Given the description of an element on the screen output the (x, y) to click on. 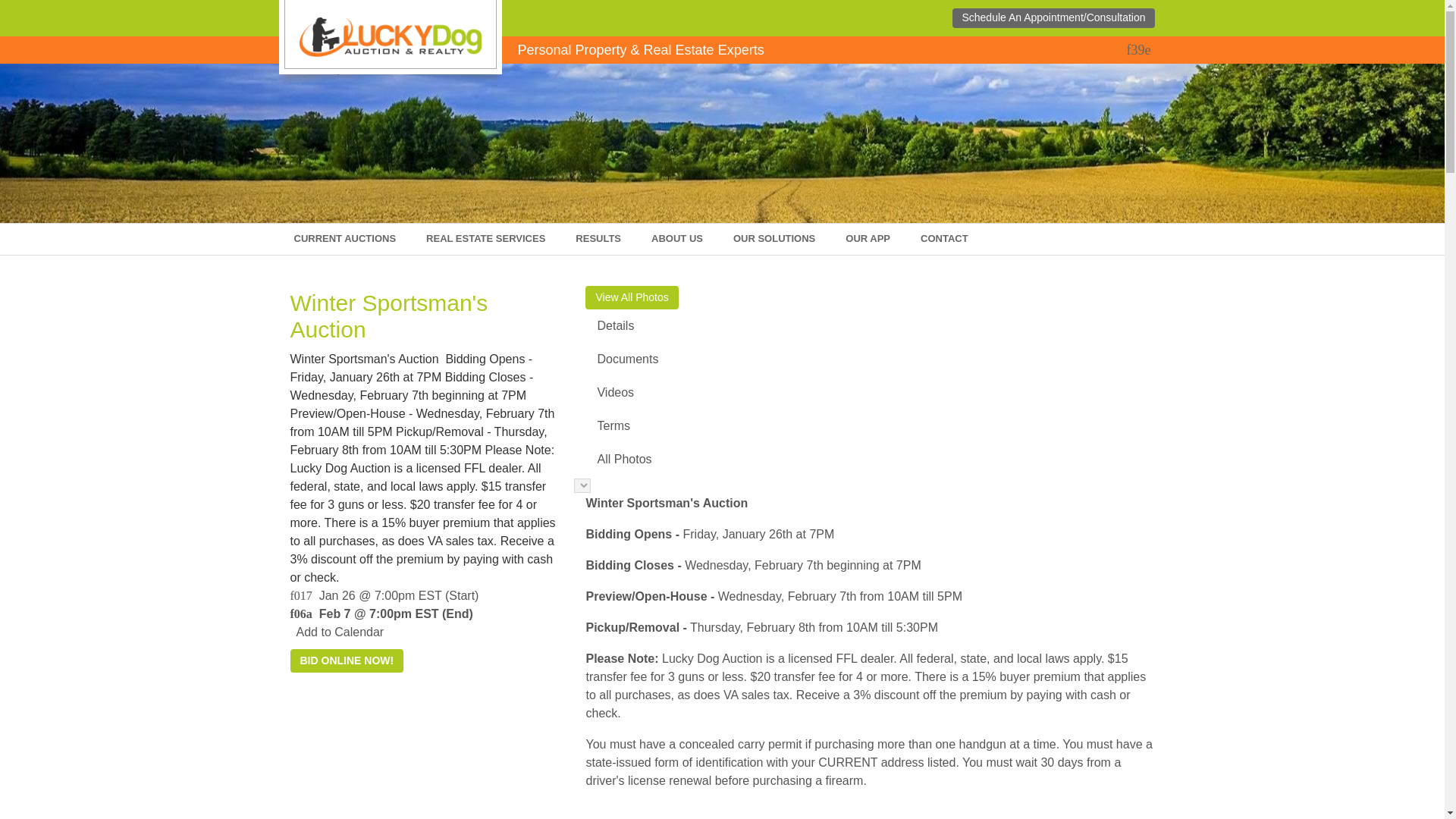
Terms (869, 426)
Videos (869, 392)
Details (869, 326)
Documents (869, 359)
Our Solutions (773, 238)
Current Auctions (345, 238)
Lucky Dog Auction Company (389, 35)
OUR APP (867, 238)
Contact (944, 238)
All Photos (869, 459)
Our App (867, 238)
All Photos (869, 459)
ABOUT US (676, 238)
Videos (869, 392)
REAL ESTATE SERVICES (485, 238)
